Given the description of an element on the screen output the (x, y) to click on. 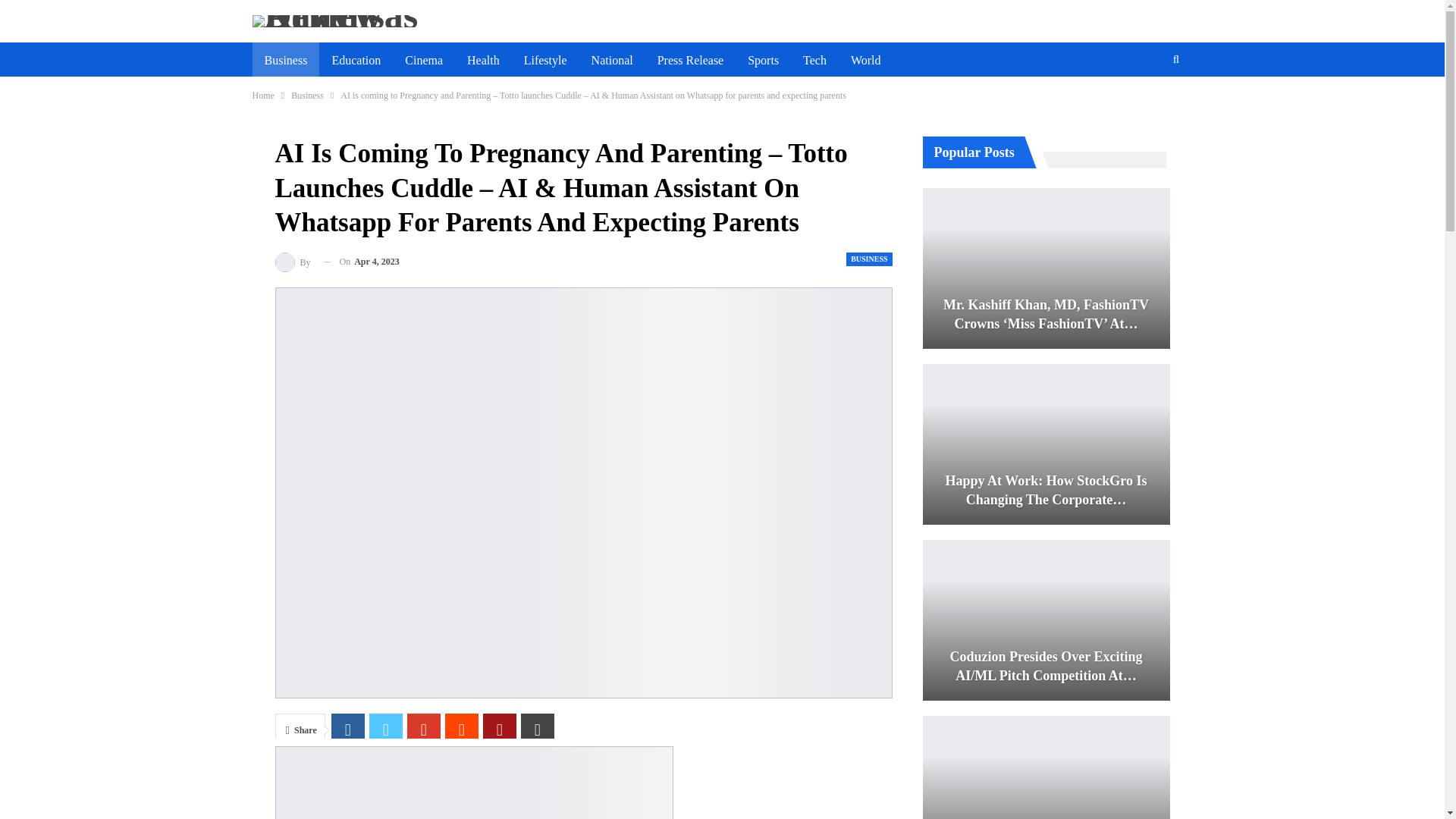
Health (483, 60)
Cinema (423, 60)
National (612, 60)
Home (262, 95)
Press Release (690, 60)
BUSINESS (868, 258)
By (293, 261)
Lifestyle (545, 60)
Browse Author Articles (293, 261)
Sports (762, 60)
Business (284, 60)
World (865, 60)
Education (355, 60)
Business (307, 95)
Tech (814, 60)
